Given the description of an element on the screen output the (x, y) to click on. 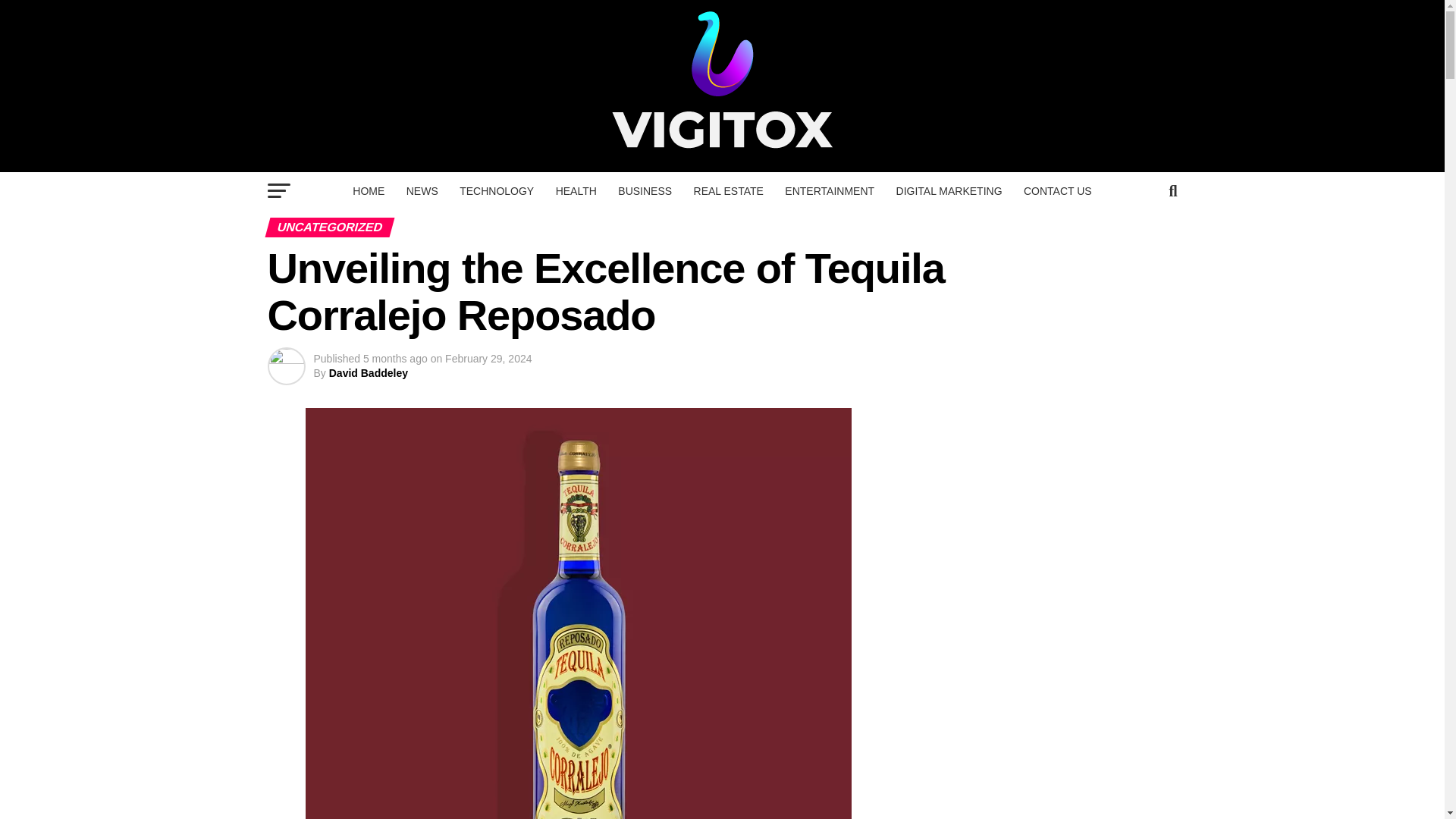
TECHNOLOGY (496, 190)
HEALTH (576, 190)
Posts by David Baddeley (368, 372)
BUSINESS (644, 190)
REAL ESTATE (728, 190)
ENTERTAINMENT (829, 190)
NEWS (421, 190)
HOME (368, 190)
